Given the description of an element on the screen output the (x, y) to click on. 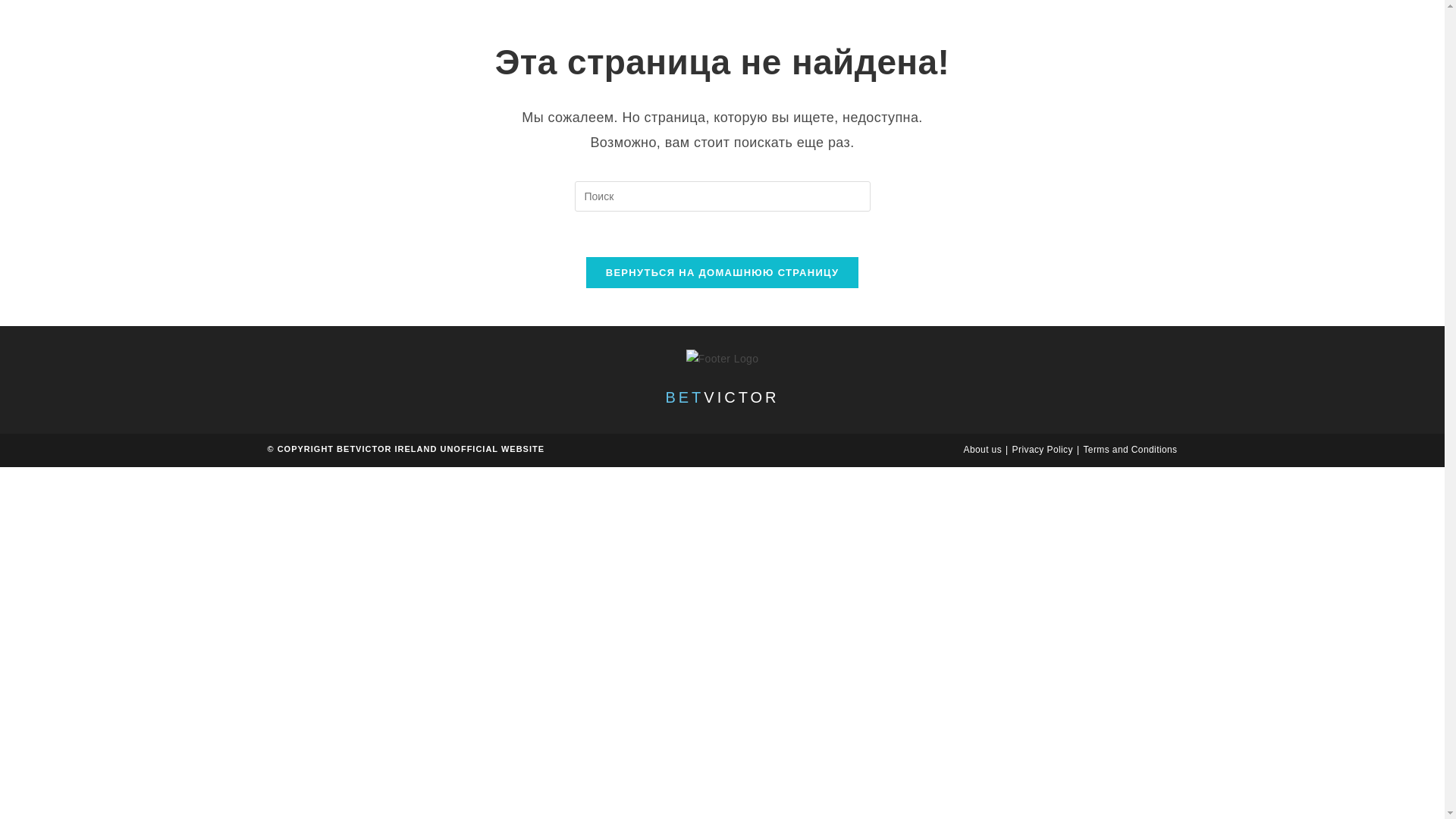
About us (981, 449)
Privacy Policy (1042, 449)
Terms and Conditions (1129, 449)
